Given the description of an element on the screen output the (x, y) to click on. 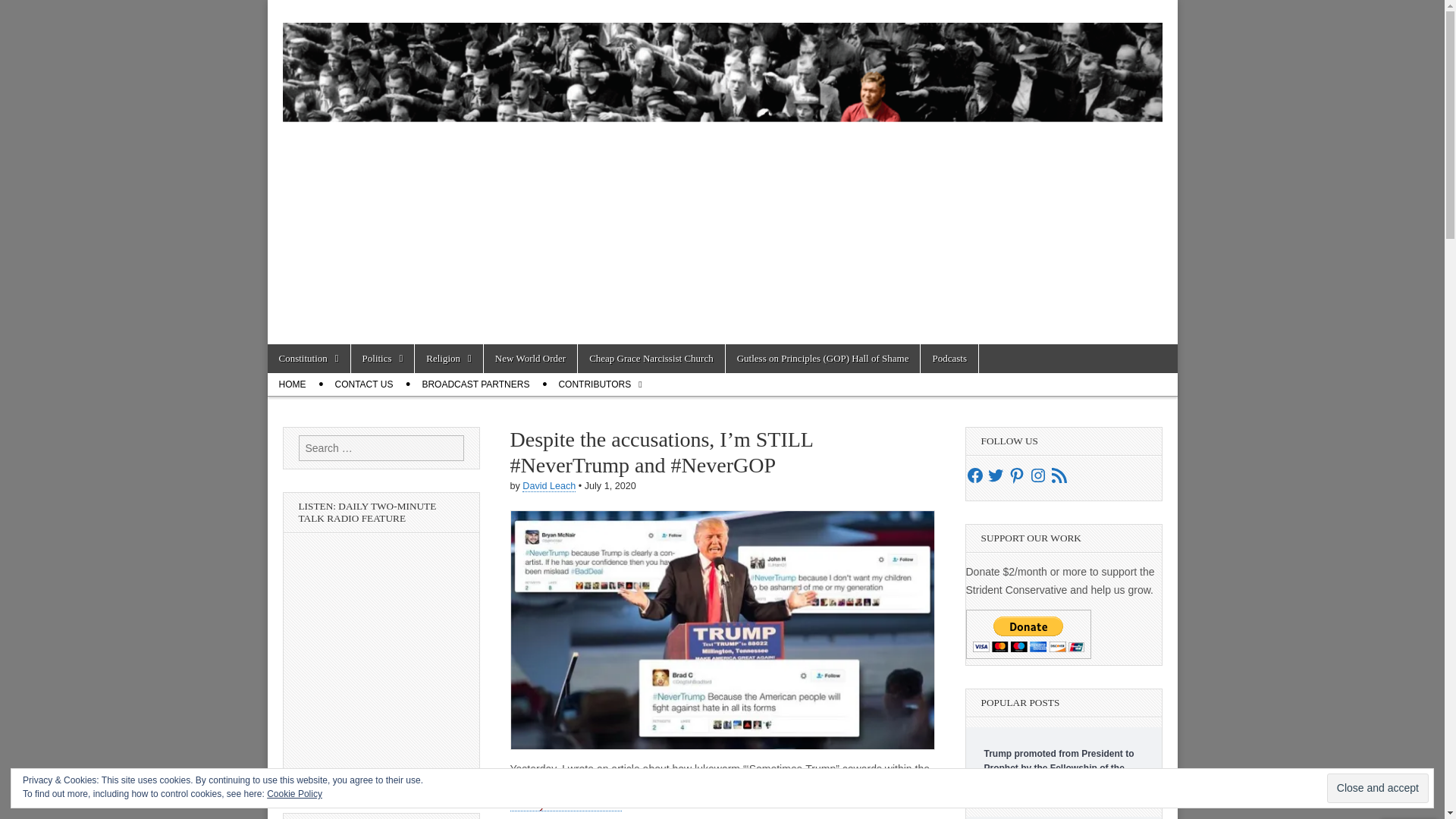
Close and accept (1377, 788)
Constitution (307, 358)
Posts by David Leach (548, 486)
Politics (382, 358)
